Given the description of an element on the screen output the (x, y) to click on. 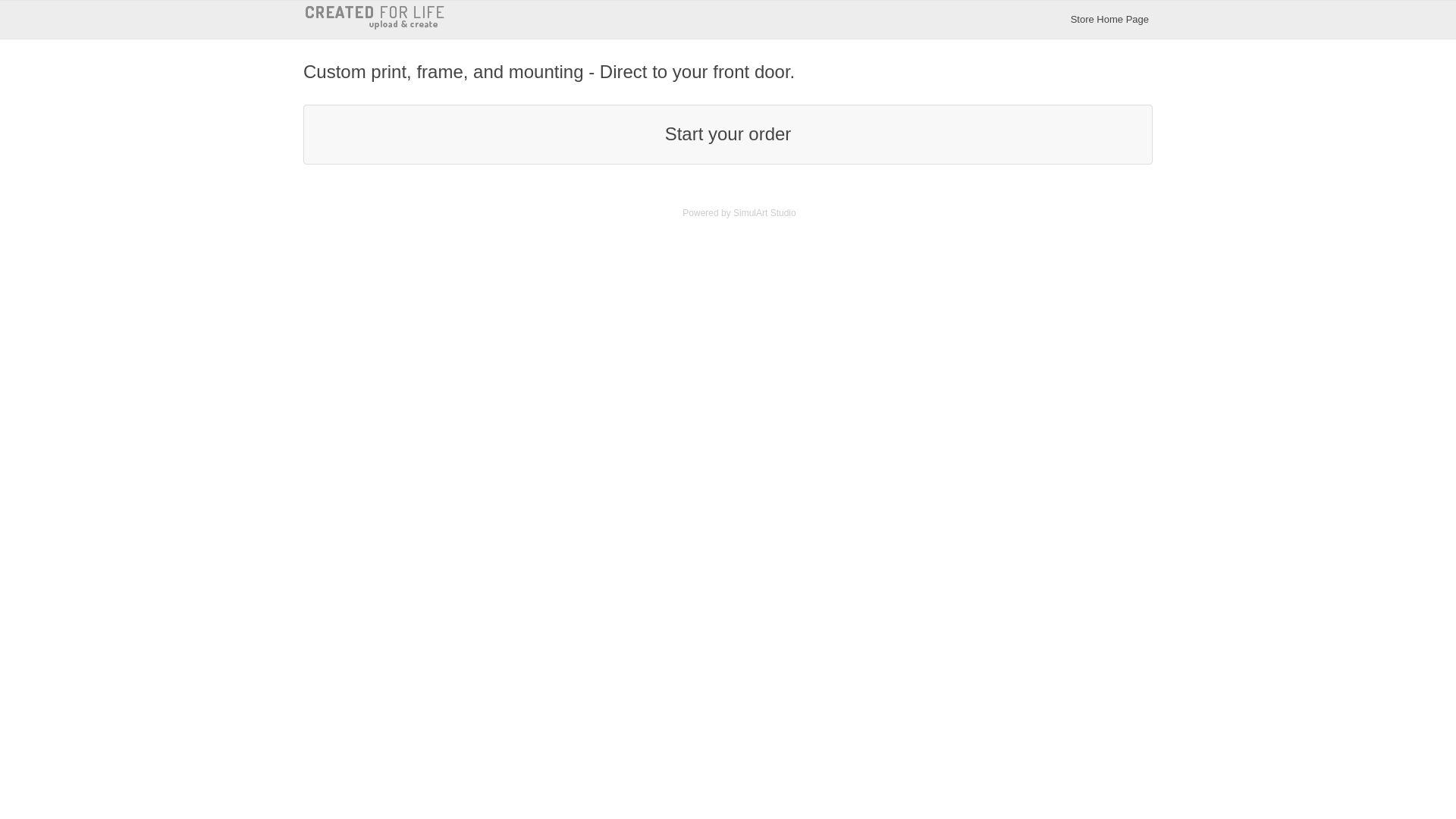
Powered by SimulArt Studio Element type: text (738, 212)
Start your order Element type: text (728, 133)
Store Home Page Element type: text (1109, 19)
